Given the description of an element on the screen output the (x, y) to click on. 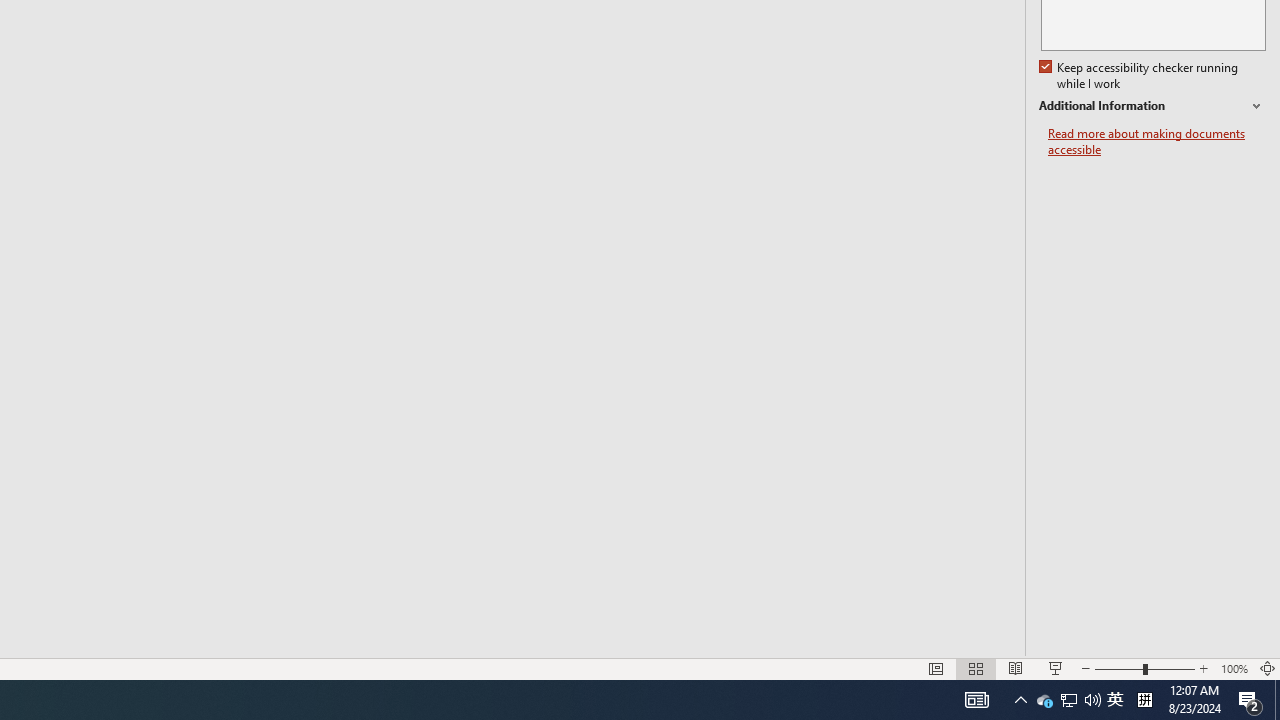
Zoom 100% (1234, 668)
